Given the description of an element on the screen output the (x, y) to click on. 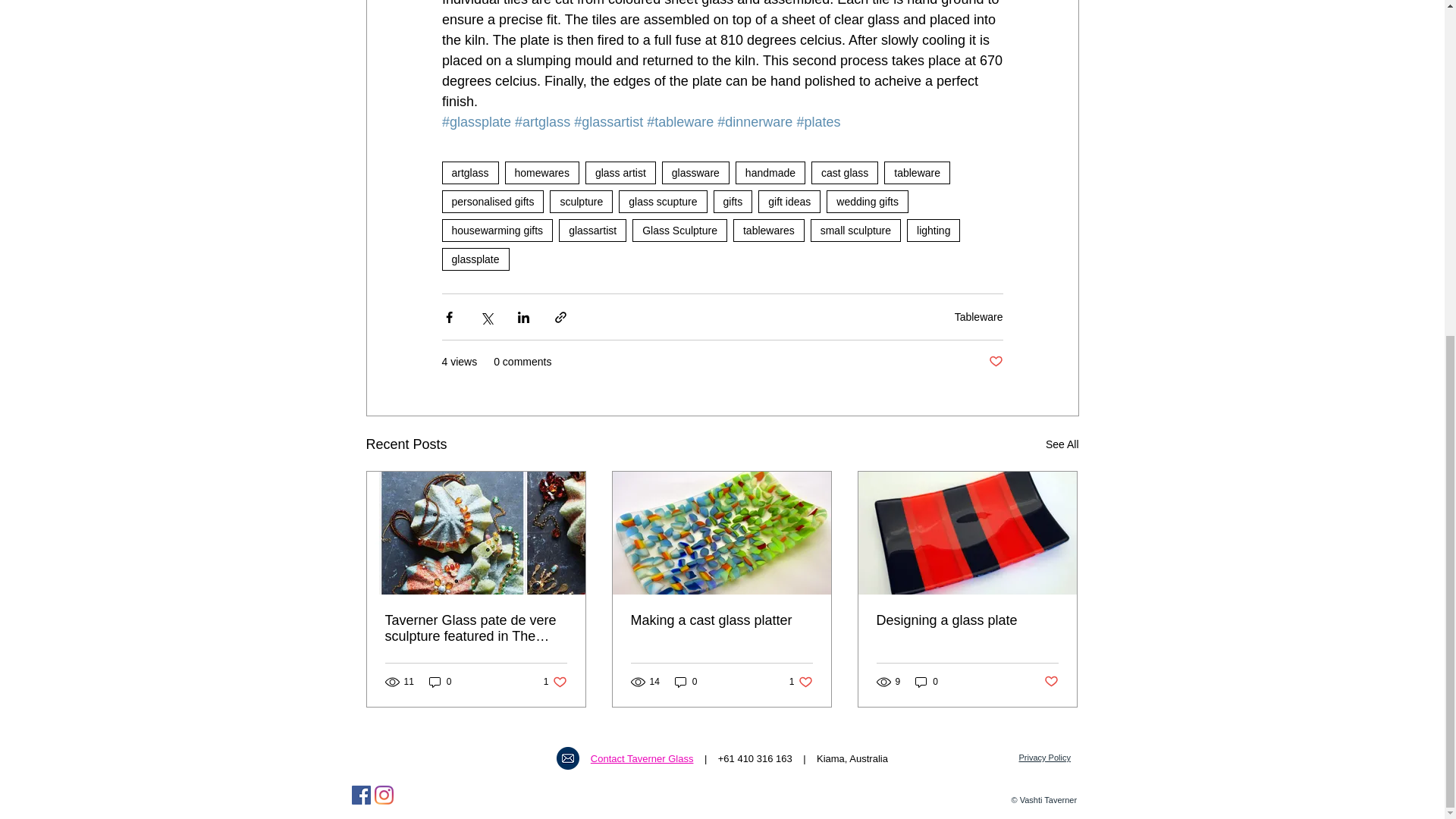
sculpture (581, 201)
homewares (542, 172)
artglass (469, 172)
cast glass (843, 172)
Glass Sculpture (678, 230)
wedding gifts (867, 201)
glass artist (620, 172)
personalised gifts (492, 201)
tableware (916, 172)
gifts (732, 201)
glass scupture (662, 201)
gift ideas (789, 201)
glassware (695, 172)
handmade (770, 172)
housewarming gifts (497, 230)
